Given the description of an element on the screen output the (x, y) to click on. 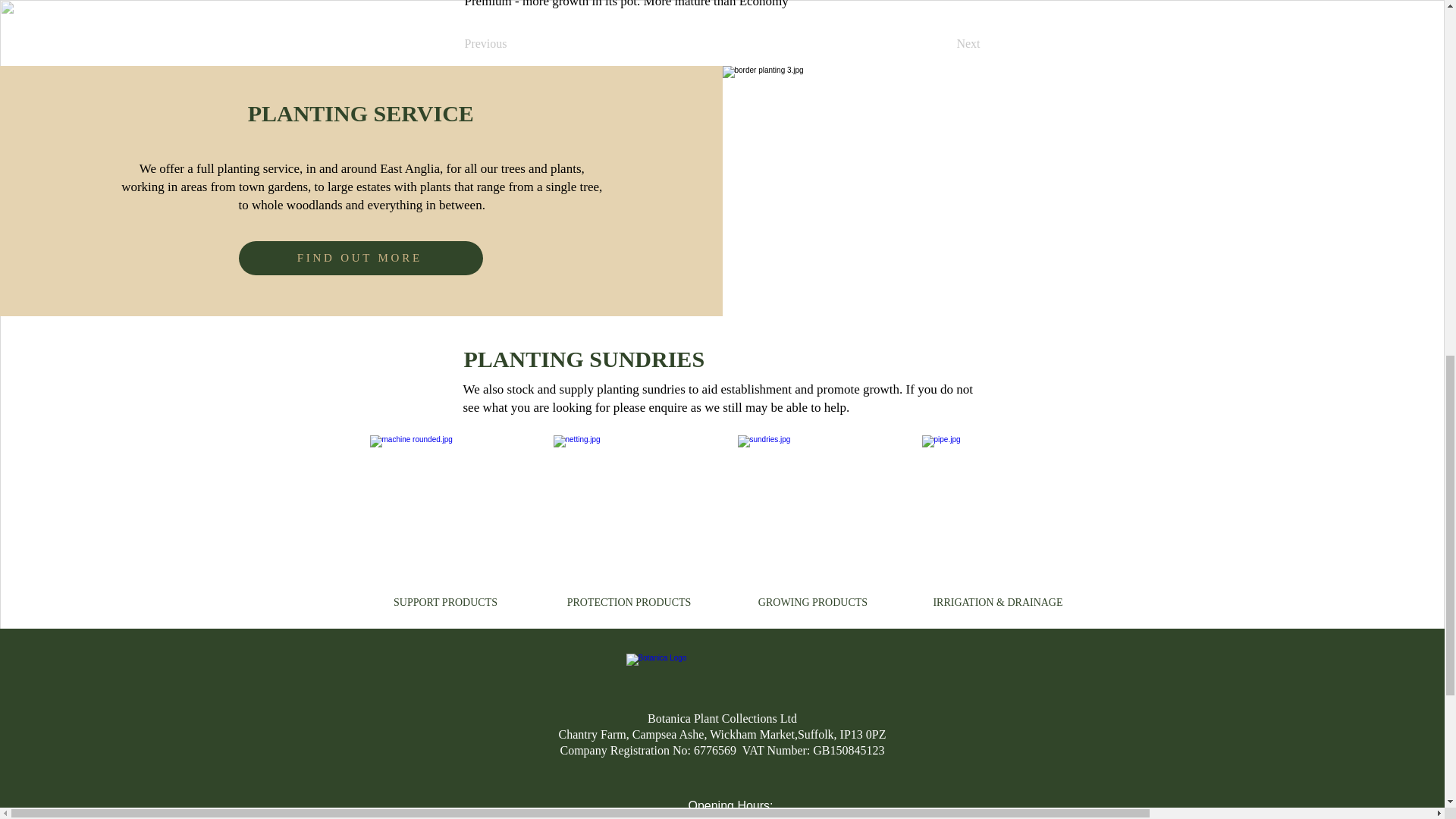
Previous (514, 43)
Next (941, 43)
FIND OUT MORE (360, 257)
SUPPORT PRODUCTS (445, 602)
PROTECTION PRODUCTS (629, 602)
